Given the description of an element on the screen output the (x, y) to click on. 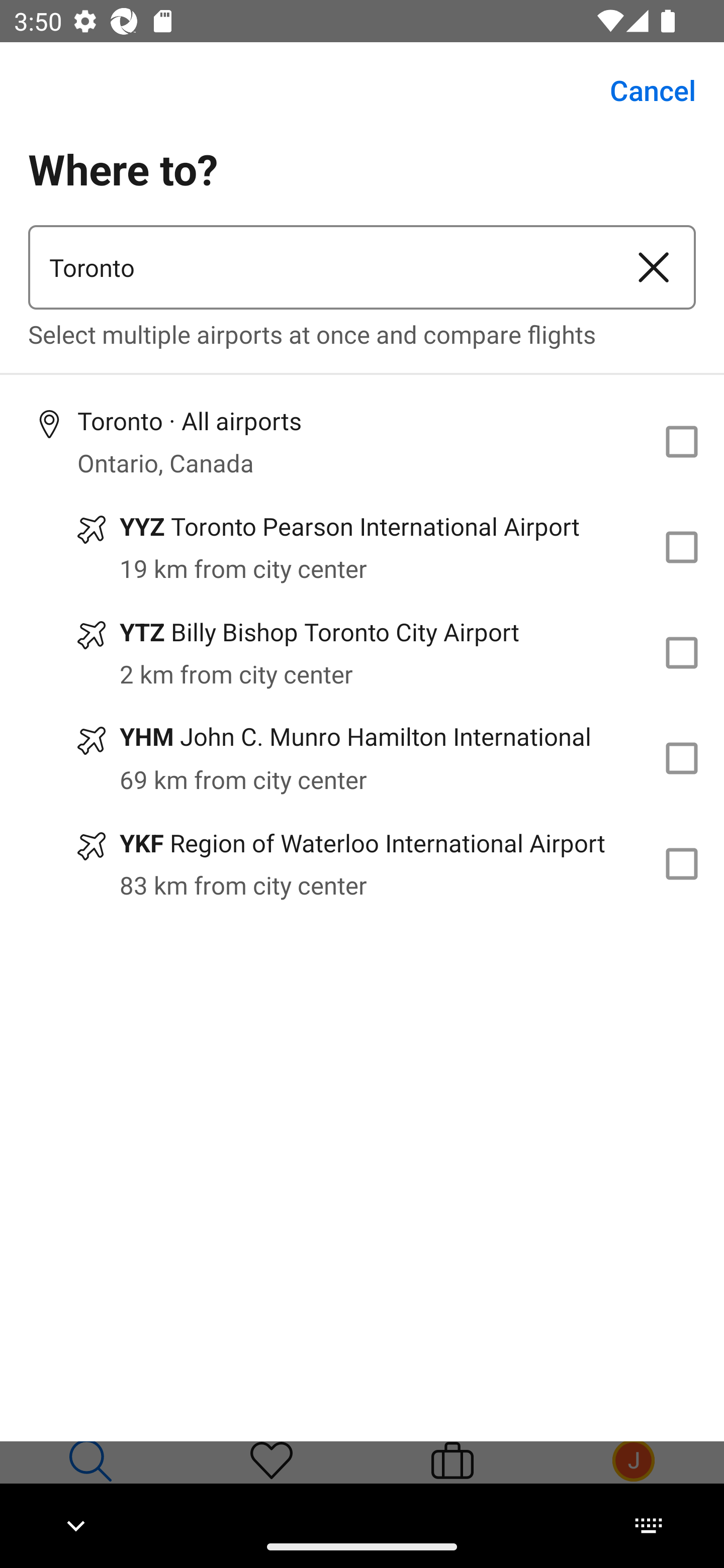
Cancel (641, 90)
Toronto (319, 266)
Clear airport or city (653, 266)
Toronto · All airports Ontario, Canada (362, 440)
